Given the description of an element on the screen output the (x, y) to click on. 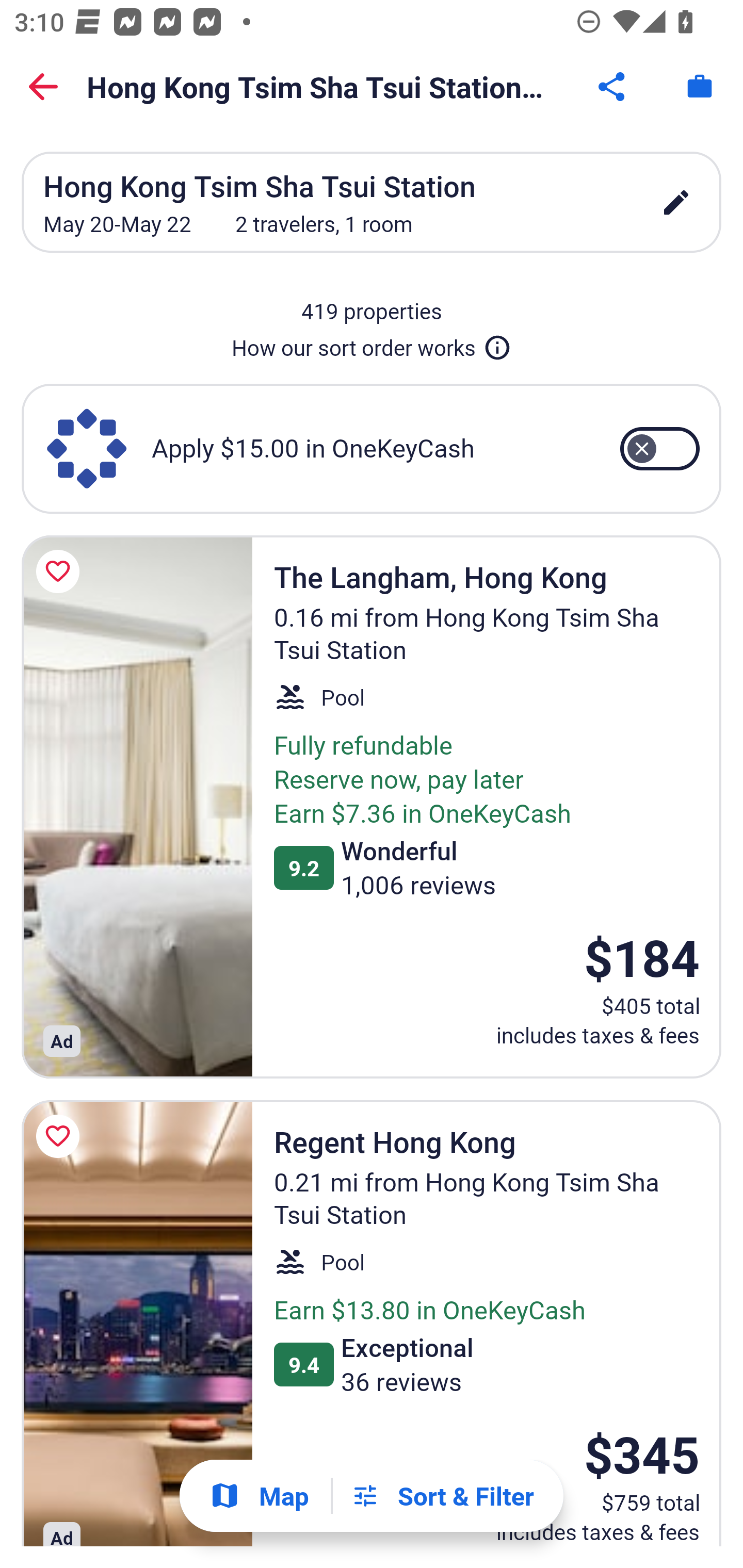
Back (43, 86)
Share Button (612, 86)
Trips. Button (699, 86)
How our sort order works (371, 344)
Save The Langham, Hong Kong to a trip (61, 571)
The Langham, Hong Kong (136, 806)
Save Regent Hong Kong to a trip (61, 1135)
Regent Hong Kong (136, 1323)
Filters Sort & Filter Filters Button (442, 1495)
Show map Map Show map Button (258, 1495)
